Given the description of an element on the screen output the (x, y) to click on. 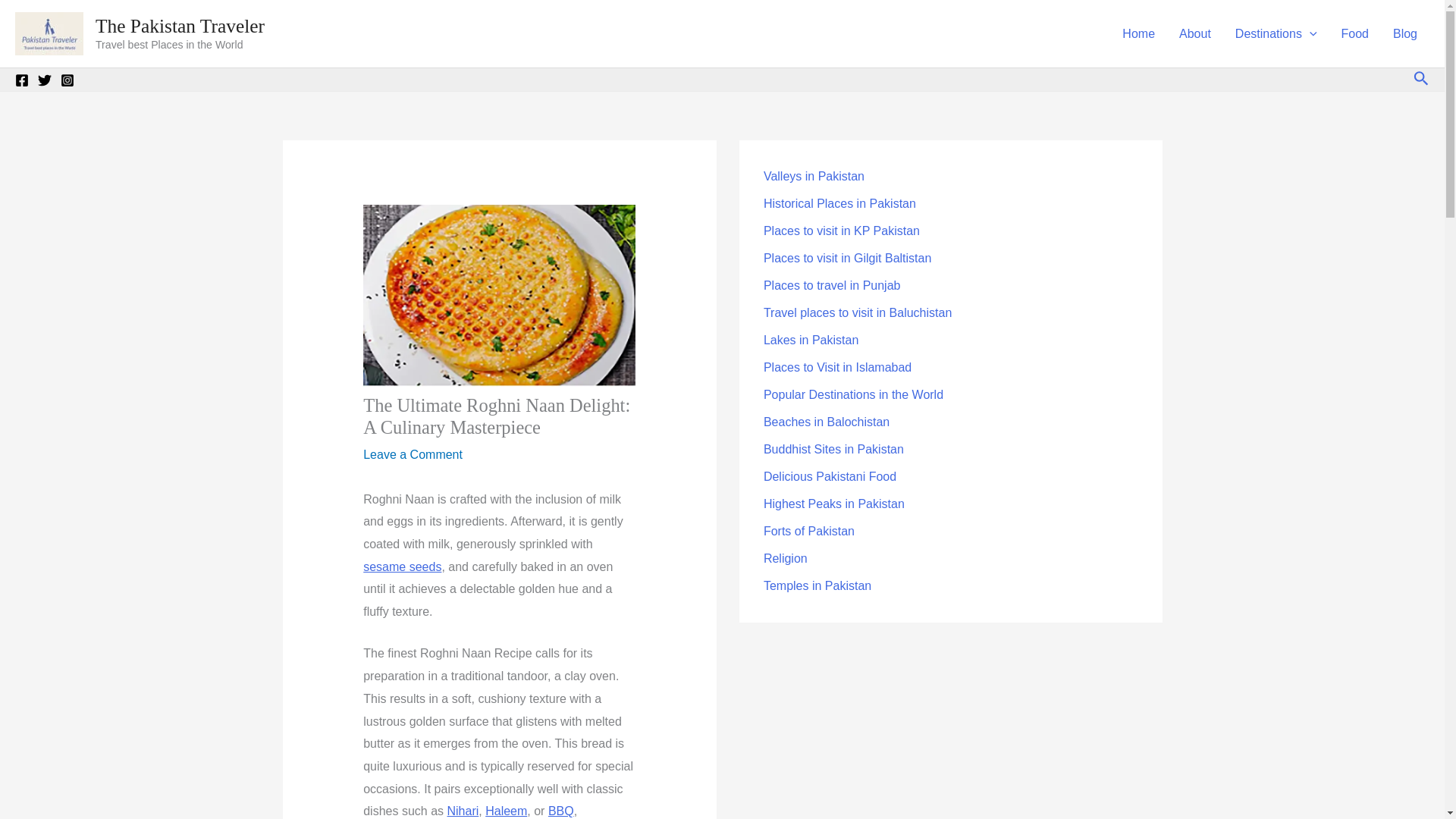
Destinations (1276, 33)
About (1195, 33)
Home (1138, 33)
The Pakistan Traveler (180, 25)
